Given the description of an element on the screen output the (x, y) to click on. 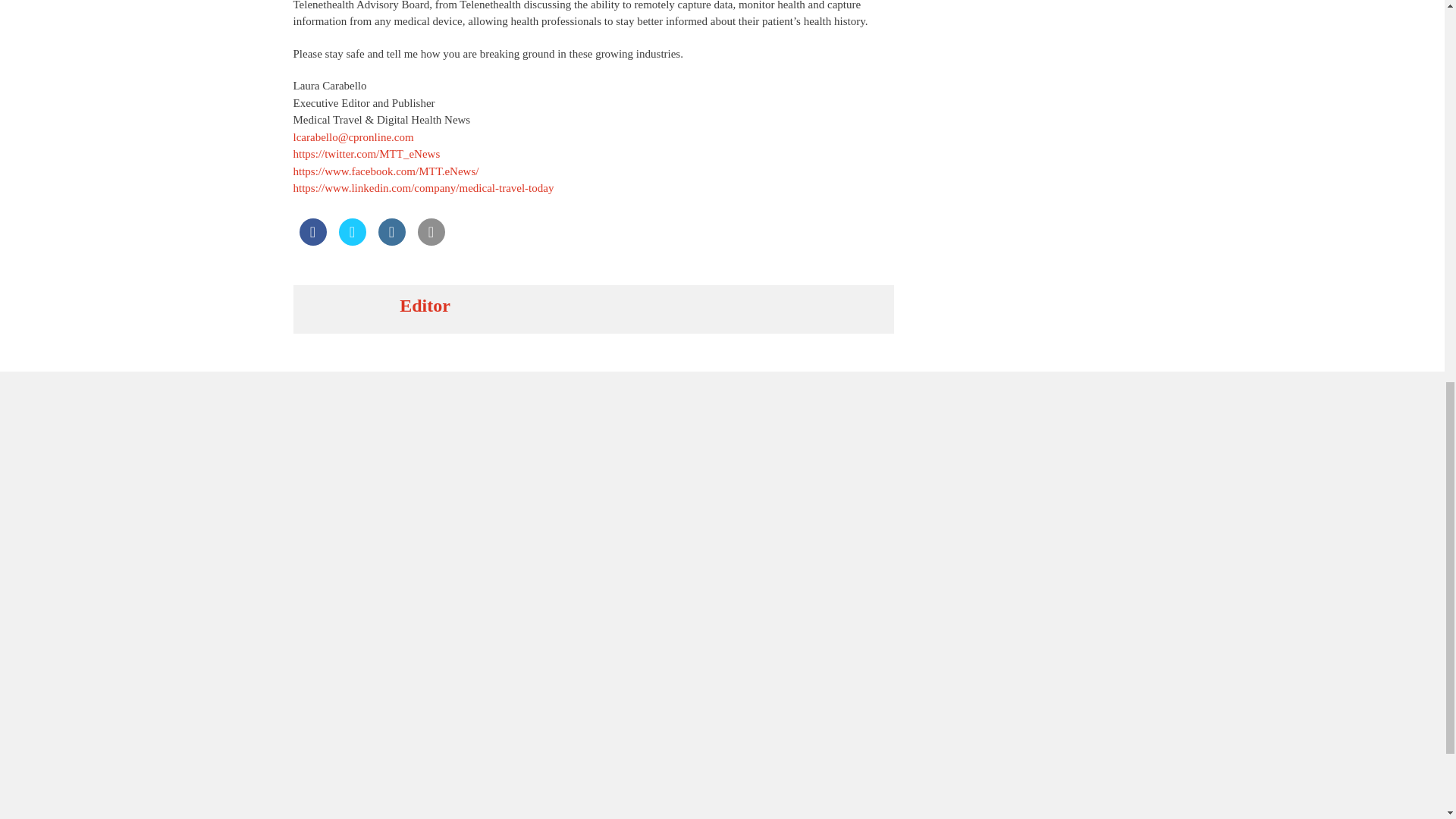
Share on Facebook (312, 240)
Editor (423, 305)
Share on LinkedIn (390, 240)
Share on Twitter (351, 240)
Share it on Email (430, 240)
